Given the description of an element on the screen output the (x, y) to click on. 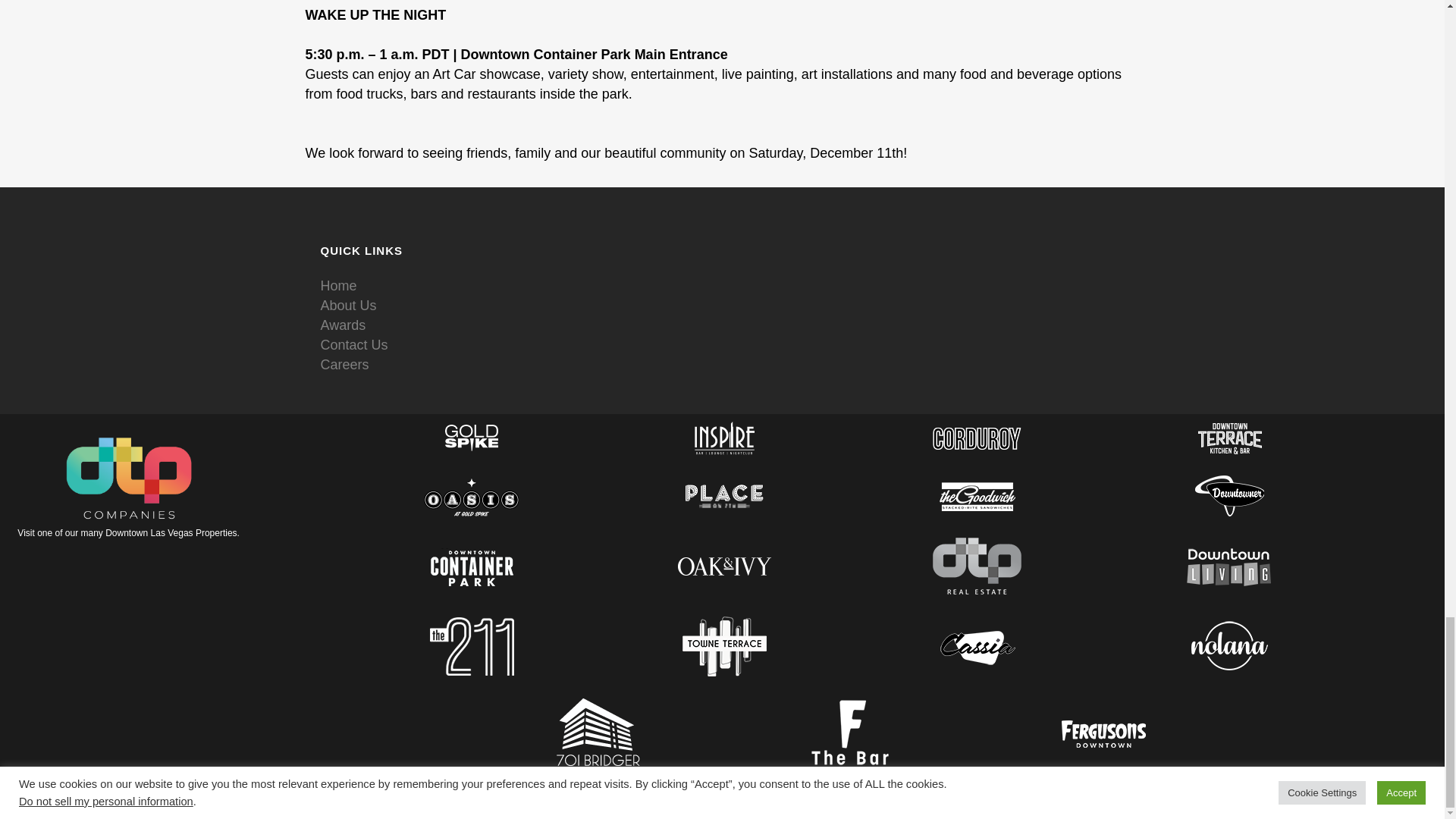
About Us (347, 305)
Home (338, 285)
